Given the description of an element on the screen output the (x, y) to click on. 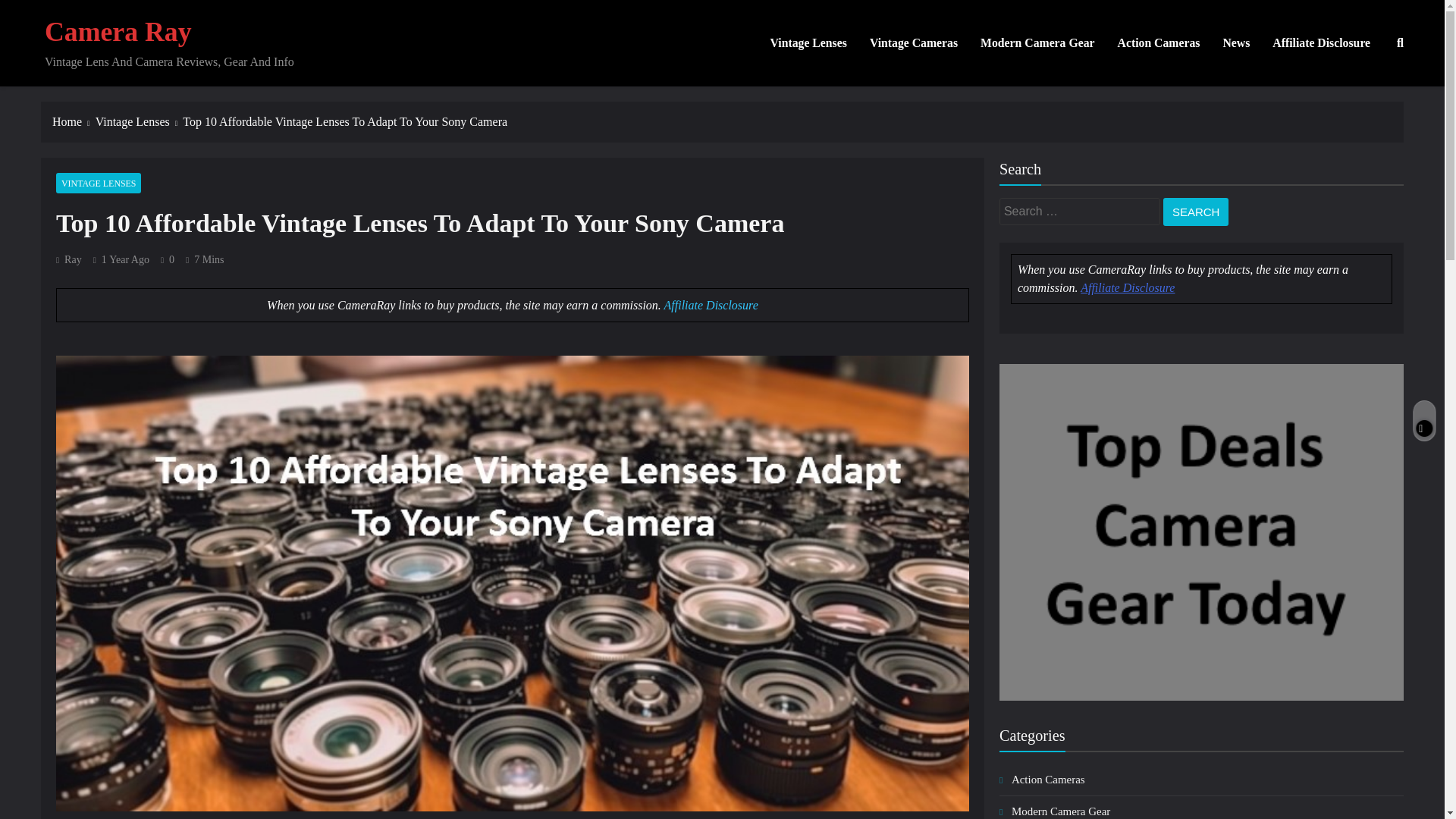
Affiliate Disclosure (1127, 287)
News (1235, 42)
Affiliate Disclosure (1320, 42)
Home (74, 122)
VINTAGE LENSES (98, 182)
1 Year Ago (125, 259)
Vintage Lenses (808, 42)
Search (1195, 212)
Search (1195, 212)
Ray (68, 259)
Vintage Cameras (914, 42)
Vintage Lenses (139, 122)
Camera Ray (118, 31)
Modern Camera Gear (1060, 811)
Action Cameras (1158, 42)
